Given the description of an element on the screen output the (x, y) to click on. 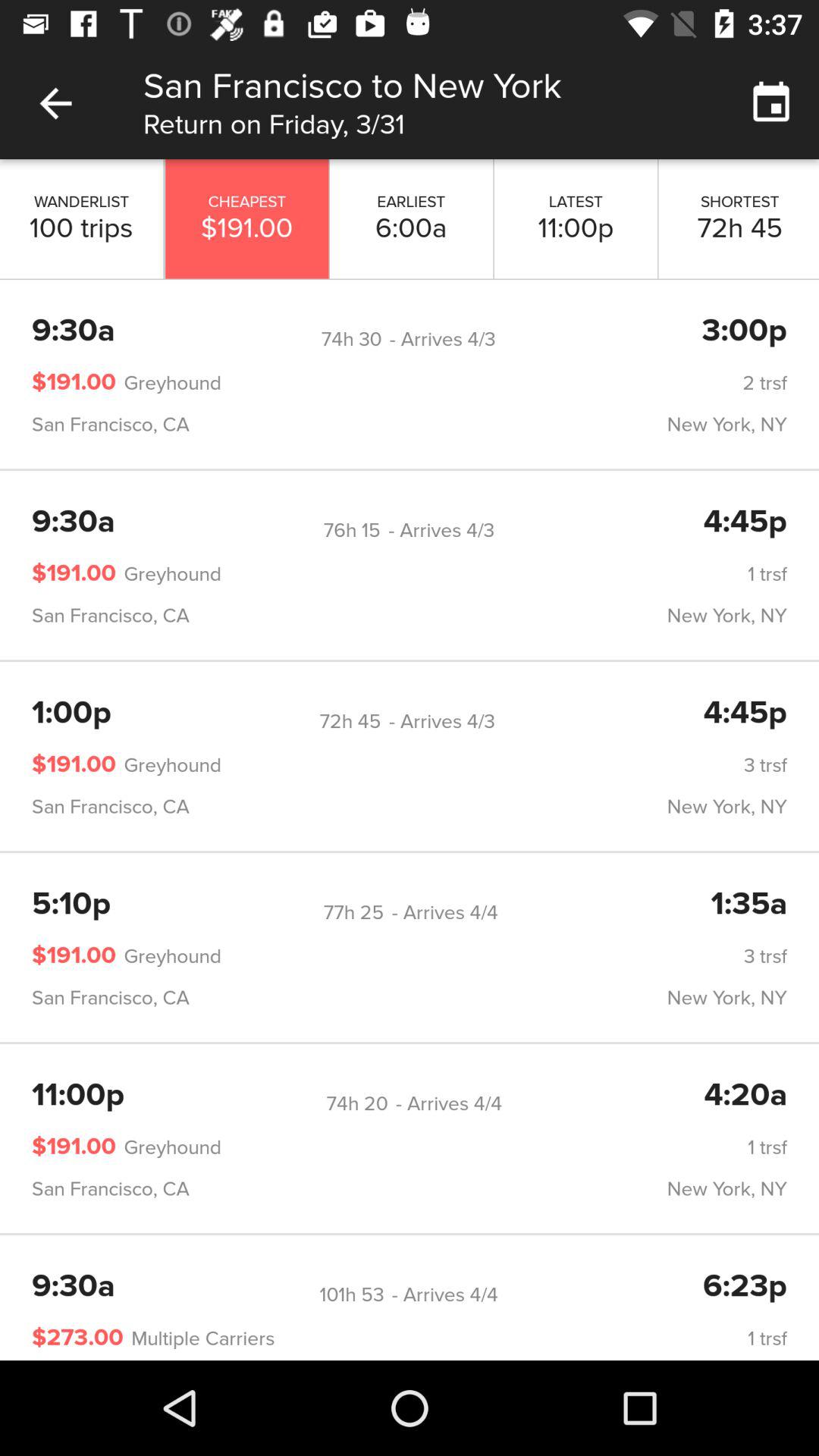
click the icon next to - arrives 4/3 (351, 339)
